Given the description of an element on the screen output the (x, y) to click on. 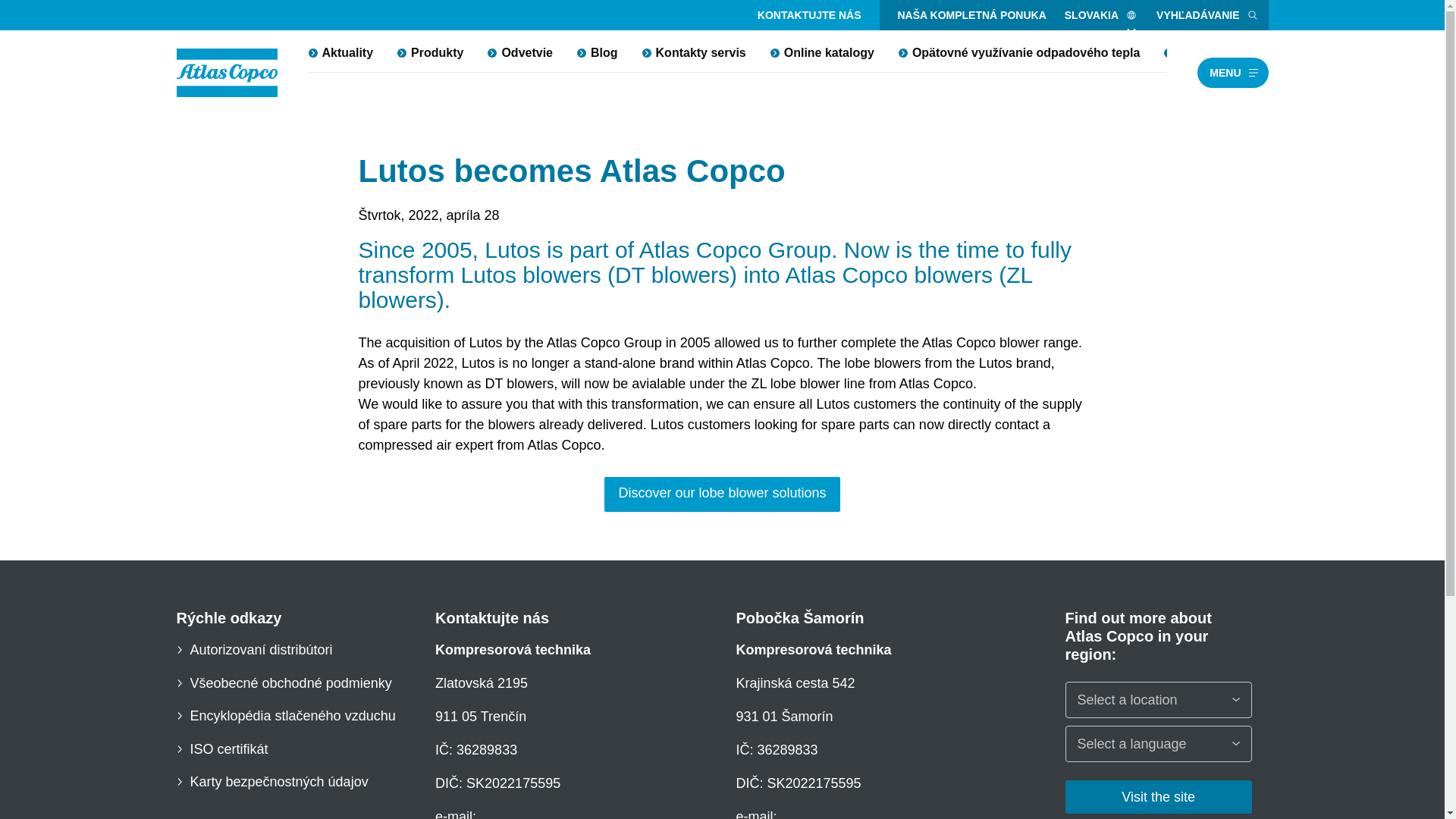
Blog (597, 52)
AtlasCopco Logo (227, 72)
SLOVAKIA (1101, 15)
Online katalogy (822, 52)
Aktuality (340, 52)
MENU (1232, 72)
Kontakty servis (694, 52)
Odvetvie (520, 52)
Produkty (430, 52)
